Given the description of an element on the screen output the (x, y) to click on. 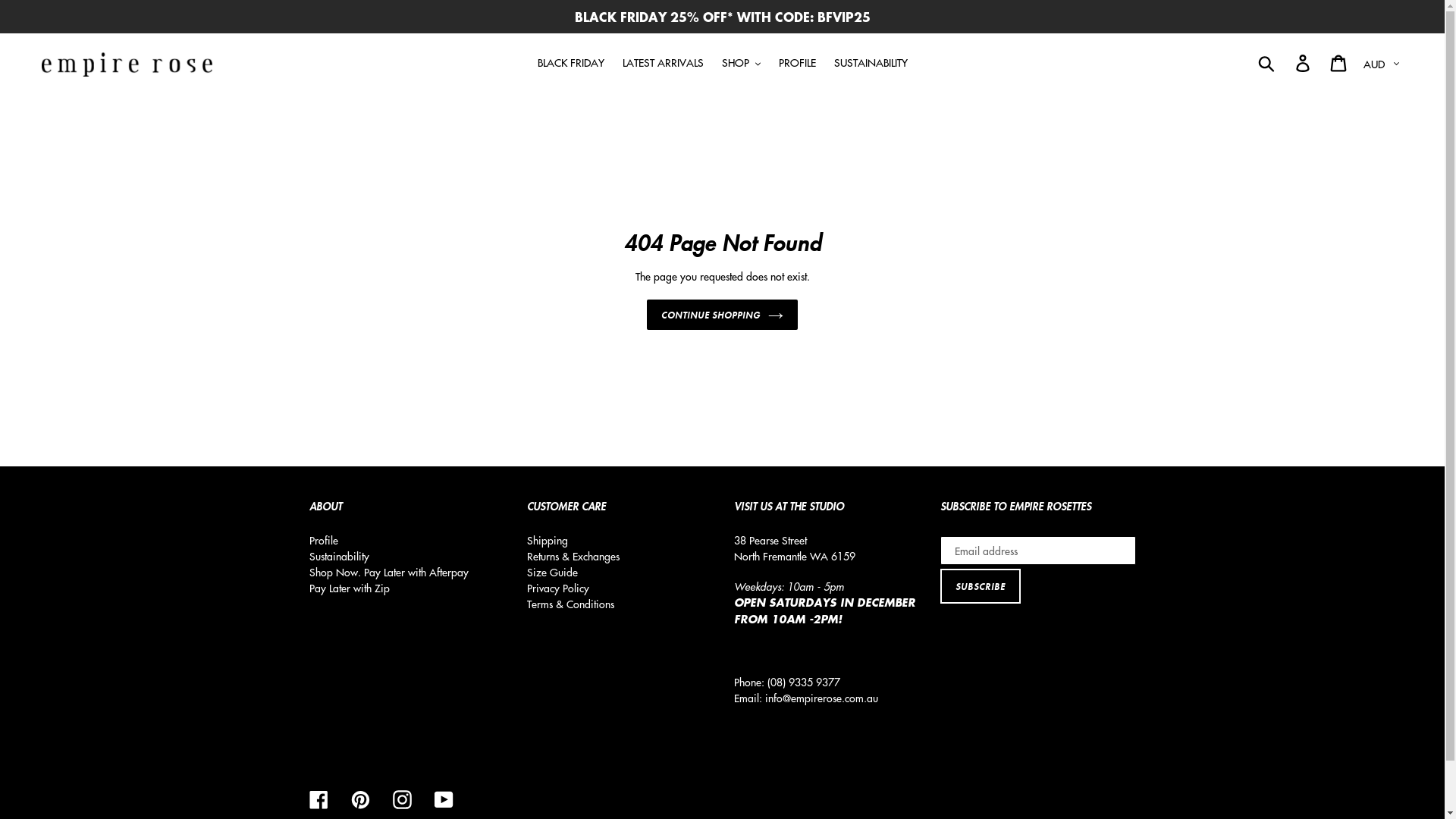
SUSTAINABILITY Element type: text (870, 62)
Facebook Element type: text (318, 799)
LATEST ARRIVALS Element type: text (662, 62)
Pay Later with Zip Element type: text (349, 587)
Log in Element type: text (1303, 61)
Privacy Policy Element type: text (558, 587)
Profile Element type: text (323, 539)
BLACK FRIDAY 25% OFF* WITH CODE: BFVIP25 Element type: text (722, 16)
Returns & Exchanges Element type: text (573, 555)
Cart Element type: text (1339, 61)
CONTINUE SHOPPING Element type: text (721, 314)
info@empirerose.com.au Element type: text (820, 697)
SUBSCRIBE Element type: text (980, 585)
Shop Now. Pay Later with Afterpay Element type: text (388, 571)
BLACK FRIDAY Element type: text (570, 62)
Shipping Element type: text (547, 539)
Pinterest Element type: text (359, 799)
PROFILE Element type: text (796, 62)
Submit Element type: text (1267, 61)
YouTube Element type: text (442, 799)
Terms & Conditions Element type: text (570, 603)
Instagram Element type: text (401, 799)
Size Guide Element type: text (552, 571)
Sustainability Element type: text (339, 555)
